Given the description of an element on the screen output the (x, y) to click on. 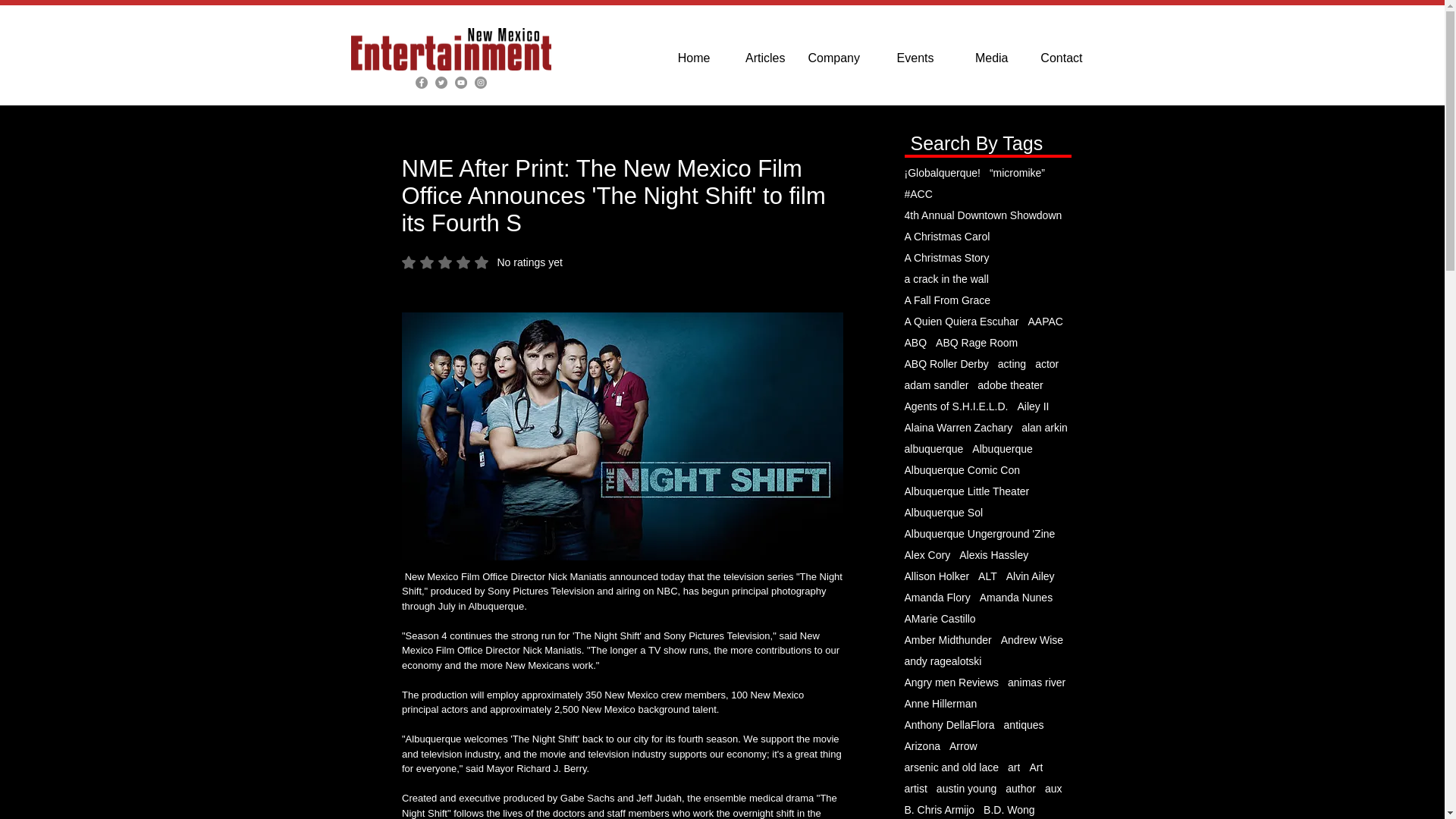
4th Annual Downtown Showdown (982, 215)
Contact (1056, 57)
Home (683, 57)
A Christmas Carol (481, 262)
A Christmas Story (947, 236)
Media (946, 257)
a crack in the wall (981, 57)
Articles (946, 278)
A Fall From Grace (759, 57)
